Given the description of an element on the screen output the (x, y) to click on. 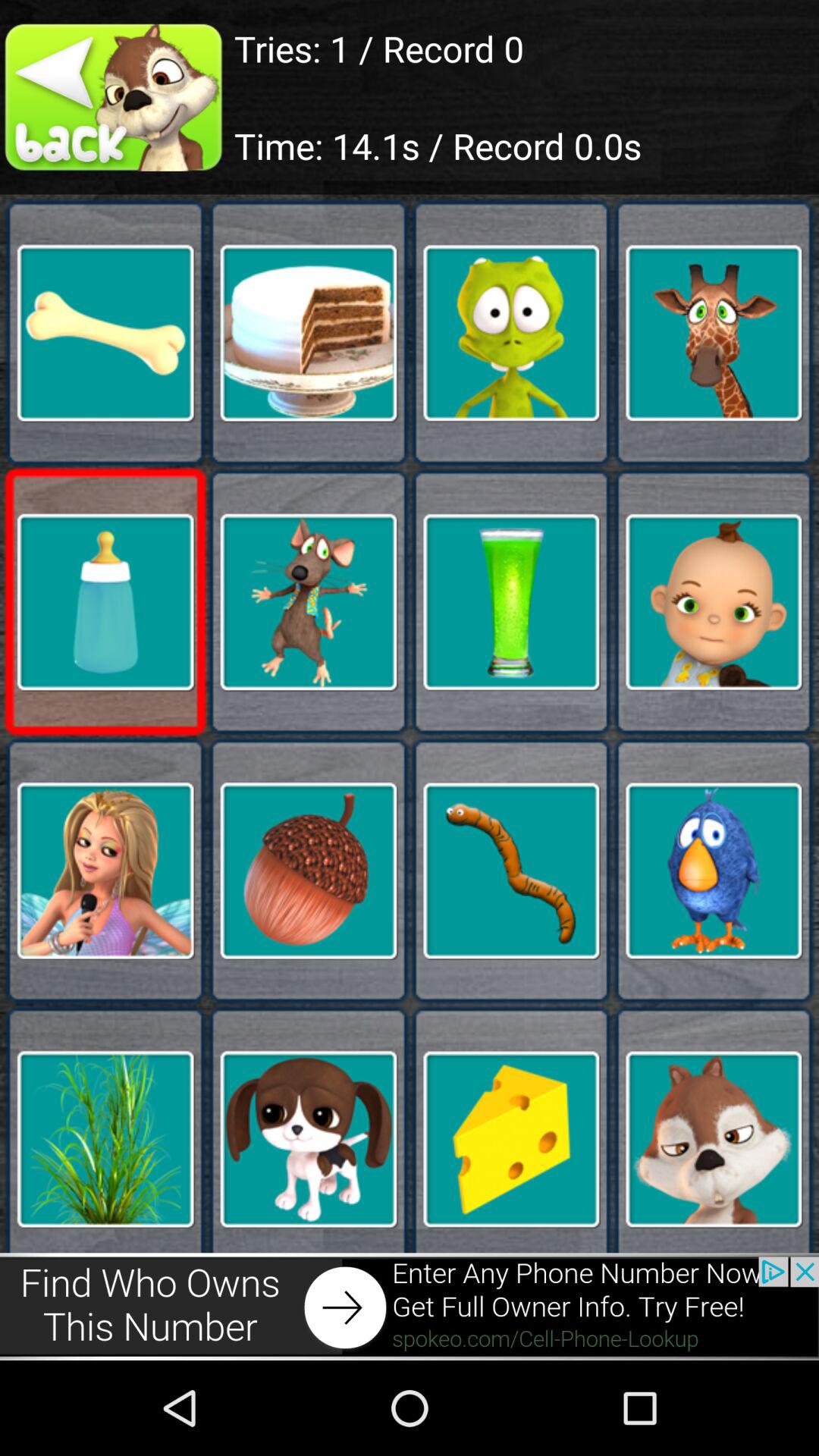
click on the worm image (511, 870)
click on the image which is in last row 2nd column (308, 1138)
click on the image which is below the cake (308, 601)
select the 2nd image which below back on the page (117, 97)
click on the boy image (713, 601)
